Given the description of an element on the screen output the (x, y) to click on. 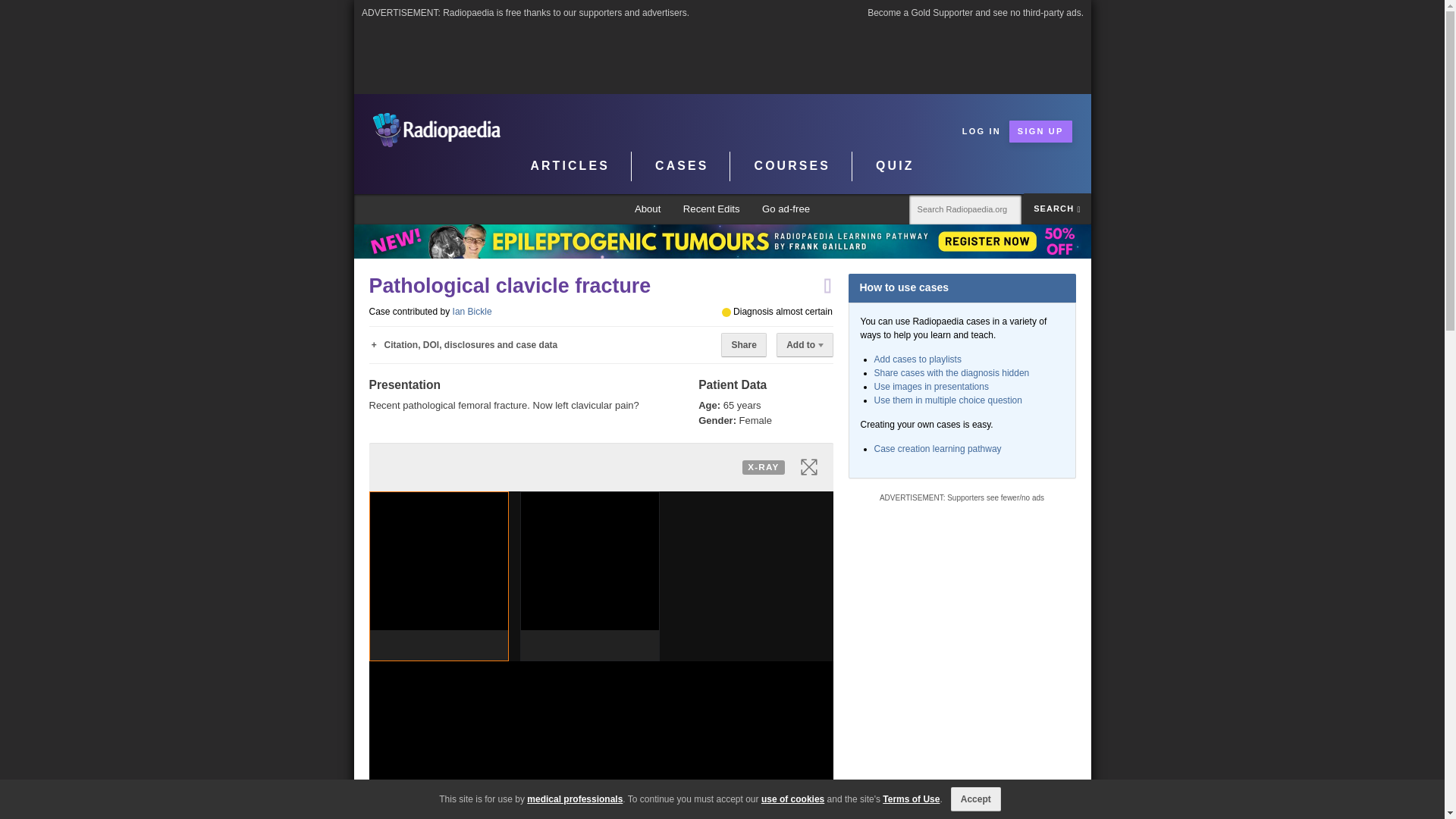
Recent Edits (710, 209)
Share Case (742, 344)
About (647, 209)
Share (742, 344)
View study in fullscreen (807, 466)
SEARCH (1056, 208)
Ian Bickle (472, 311)
SIGN UP (1040, 131)
ARTICLES (569, 166)
CASES (681, 166)
